Given the description of an element on the screen output the (x, y) to click on. 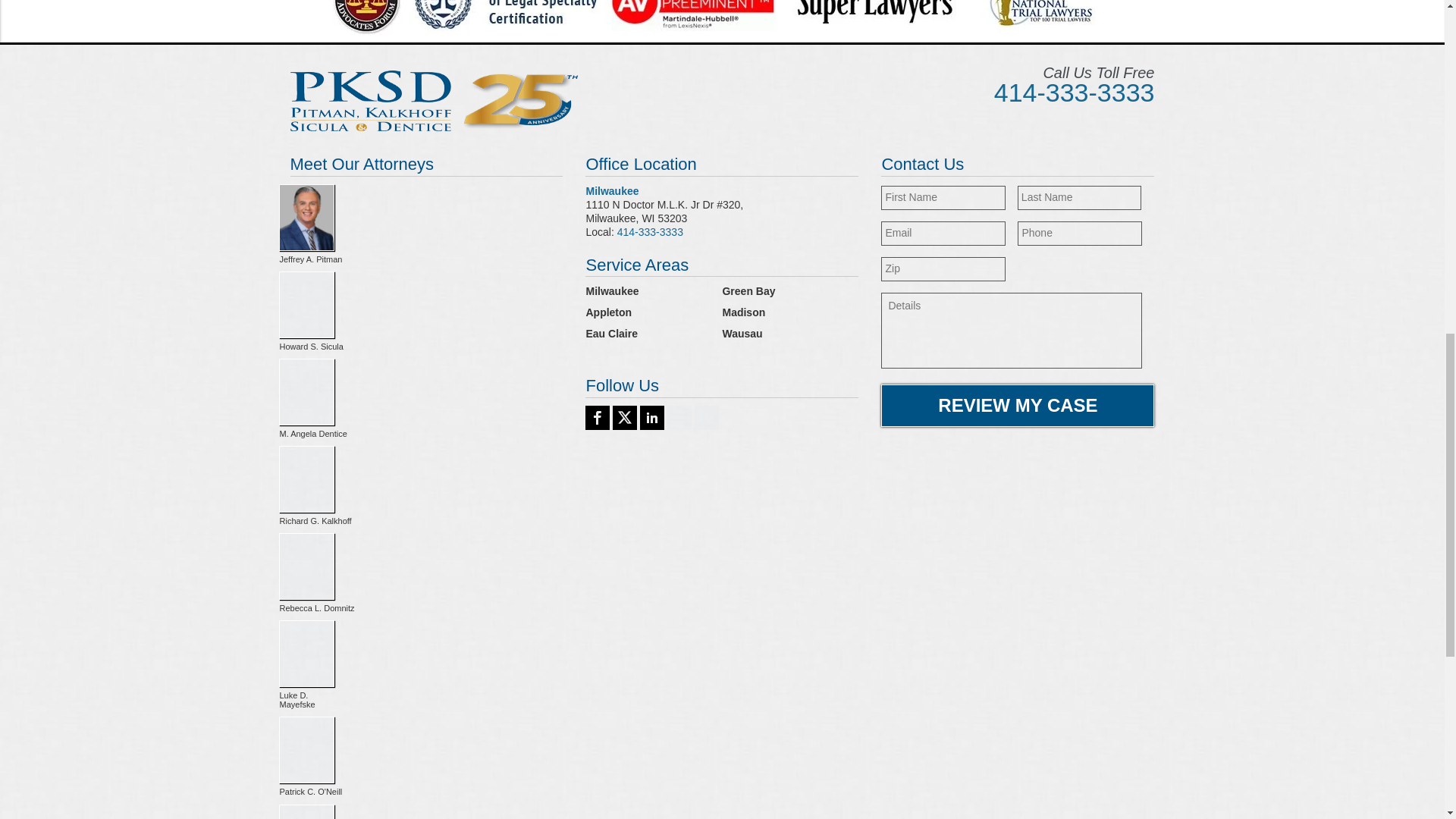
REVIEW MY CASE (1017, 405)
